Given the description of an element on the screen output the (x, y) to click on. 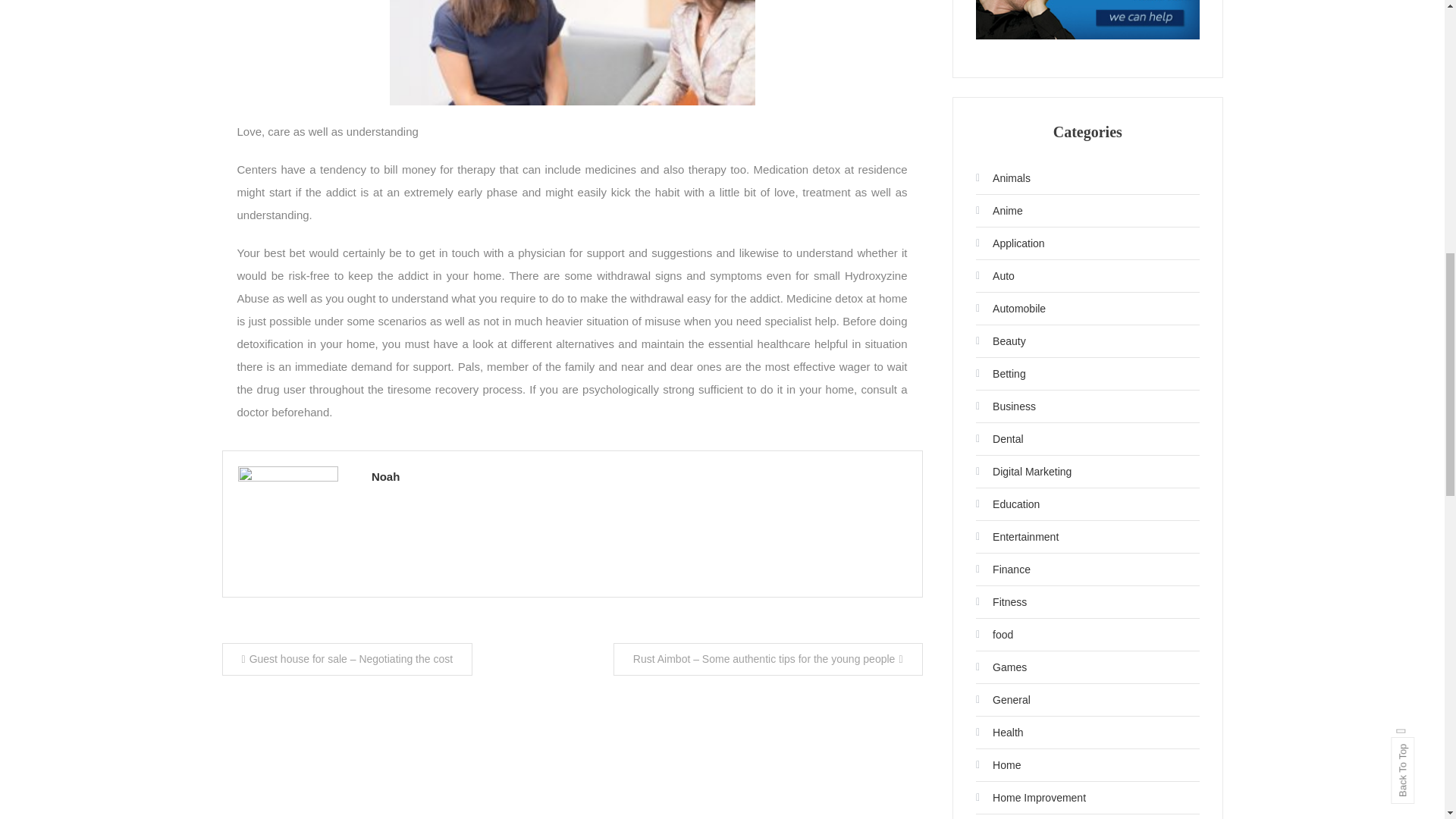
Application (1010, 242)
Dental (999, 438)
Anime (999, 210)
Beauty (1000, 340)
Auto (994, 275)
Animals (1002, 178)
Betting (1000, 373)
Noah (639, 476)
Education (1007, 504)
Entertainment (1016, 536)
Business (1005, 405)
Digital Marketing (1023, 471)
Automobile (1010, 308)
Finance (1002, 569)
